Given the description of an element on the screen output the (x, y) to click on. 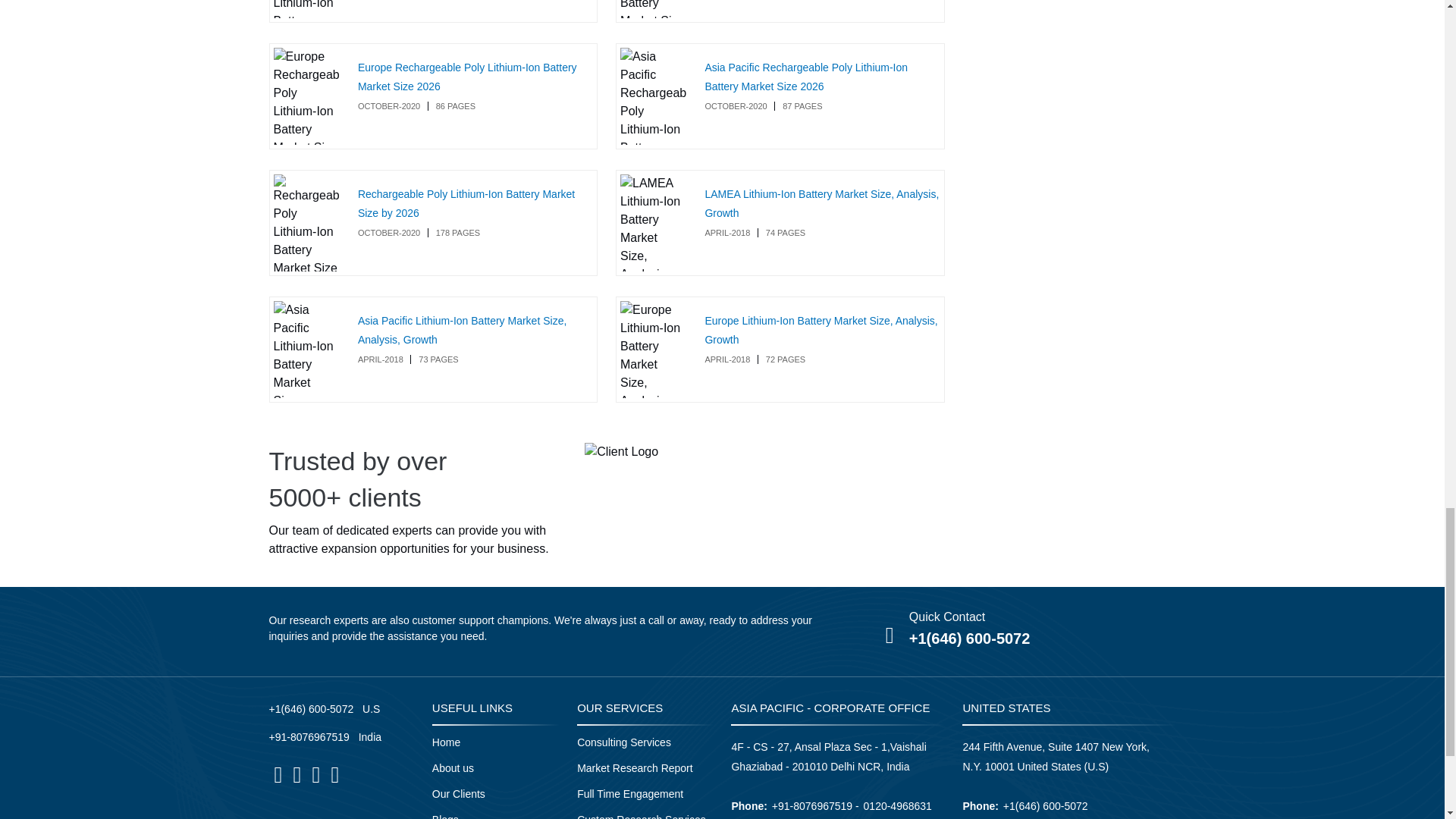
Rechargeable Poly Lithium-Ion Battery Market Size by 2026 (466, 203)
LAMEA Rechargeable Poly Lithium-Ion Battery Market Size 2026 (652, 9)
 LAMEA Lithium-Ion Battery Market Size, Analysis, Growth (821, 203)
